Given the description of an element on the screen output the (x, y) to click on. 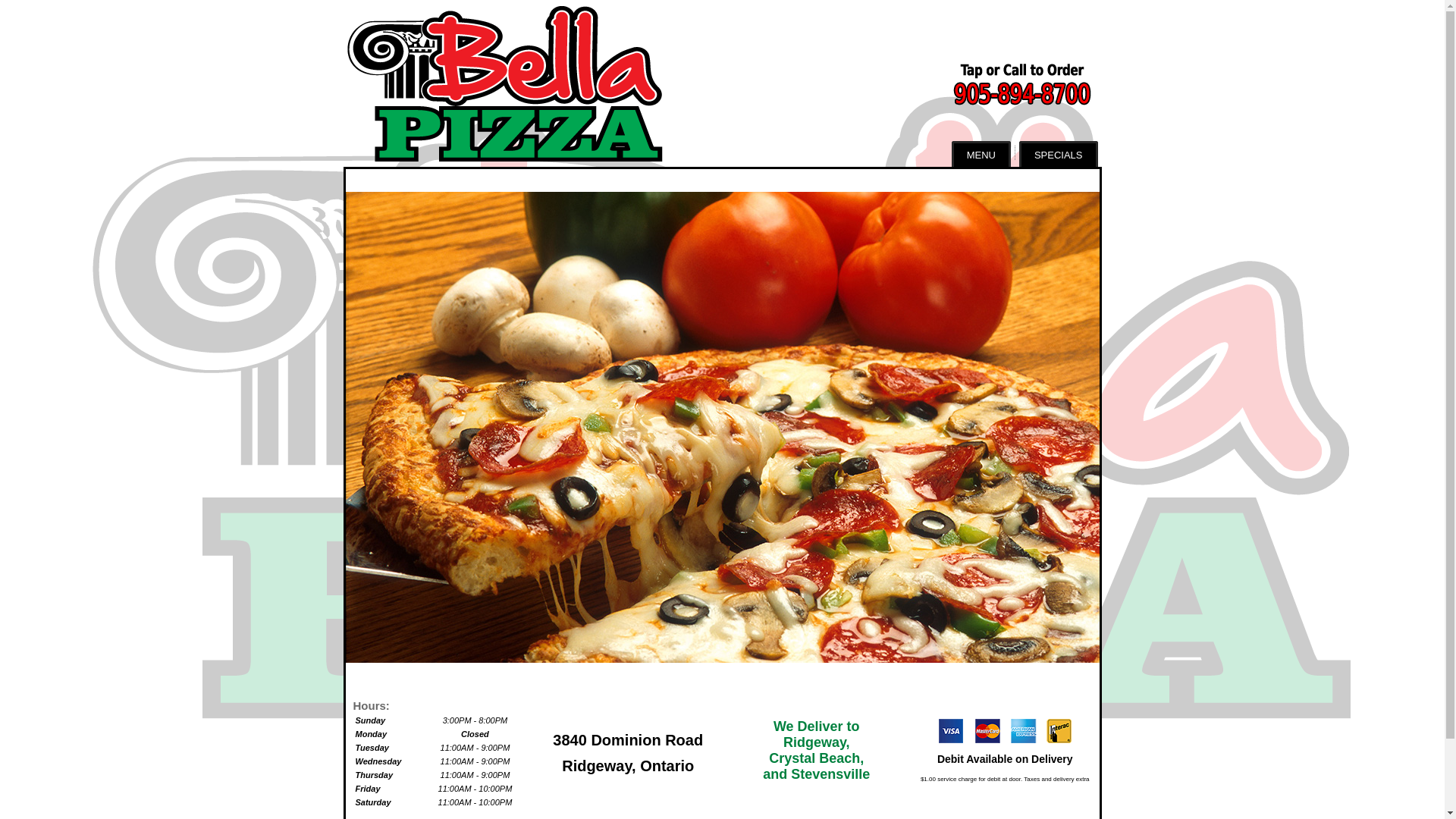
SPECIALS Element type: text (1058, 153)
Tap or Call Bella Pizza - Ridgeway Element type: hover (993, 83)
MENU Element type: text (980, 153)
